Given the description of an element on the screen output the (x, y) to click on. 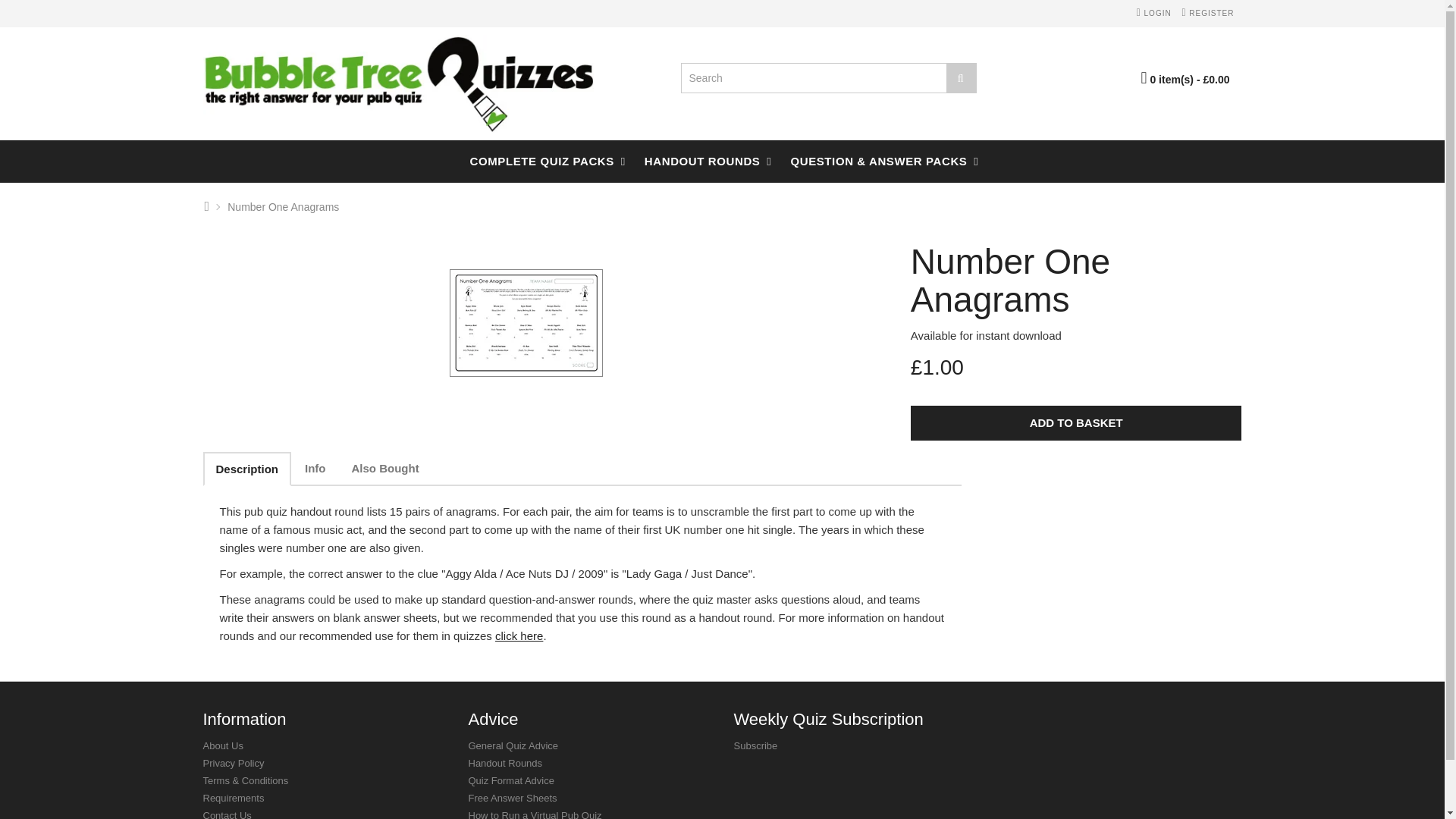
COMPLETE QUIZ PACKS (542, 160)
REGISTER (1206, 13)
Bubble Tree Quizzes (398, 83)
HANDOUT ROUNDS (702, 160)
LOGIN (1154, 13)
Number One Anagrams (525, 322)
